Given the description of an element on the screen output the (x, y) to click on. 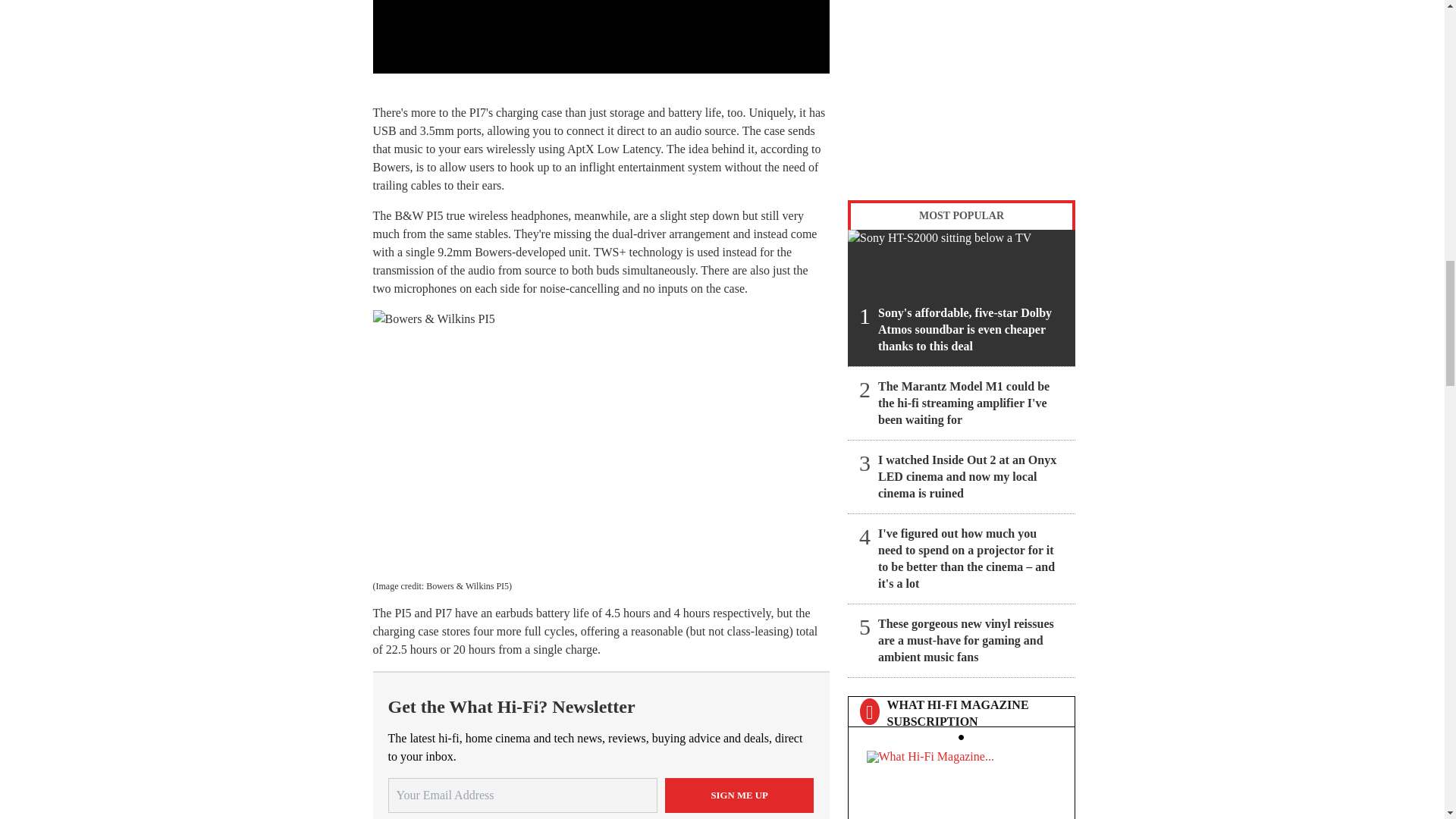
Sign me up (739, 795)
What Hi-Fi Magazine... (960, 780)
